Given the description of an element on the screen output the (x, y) to click on. 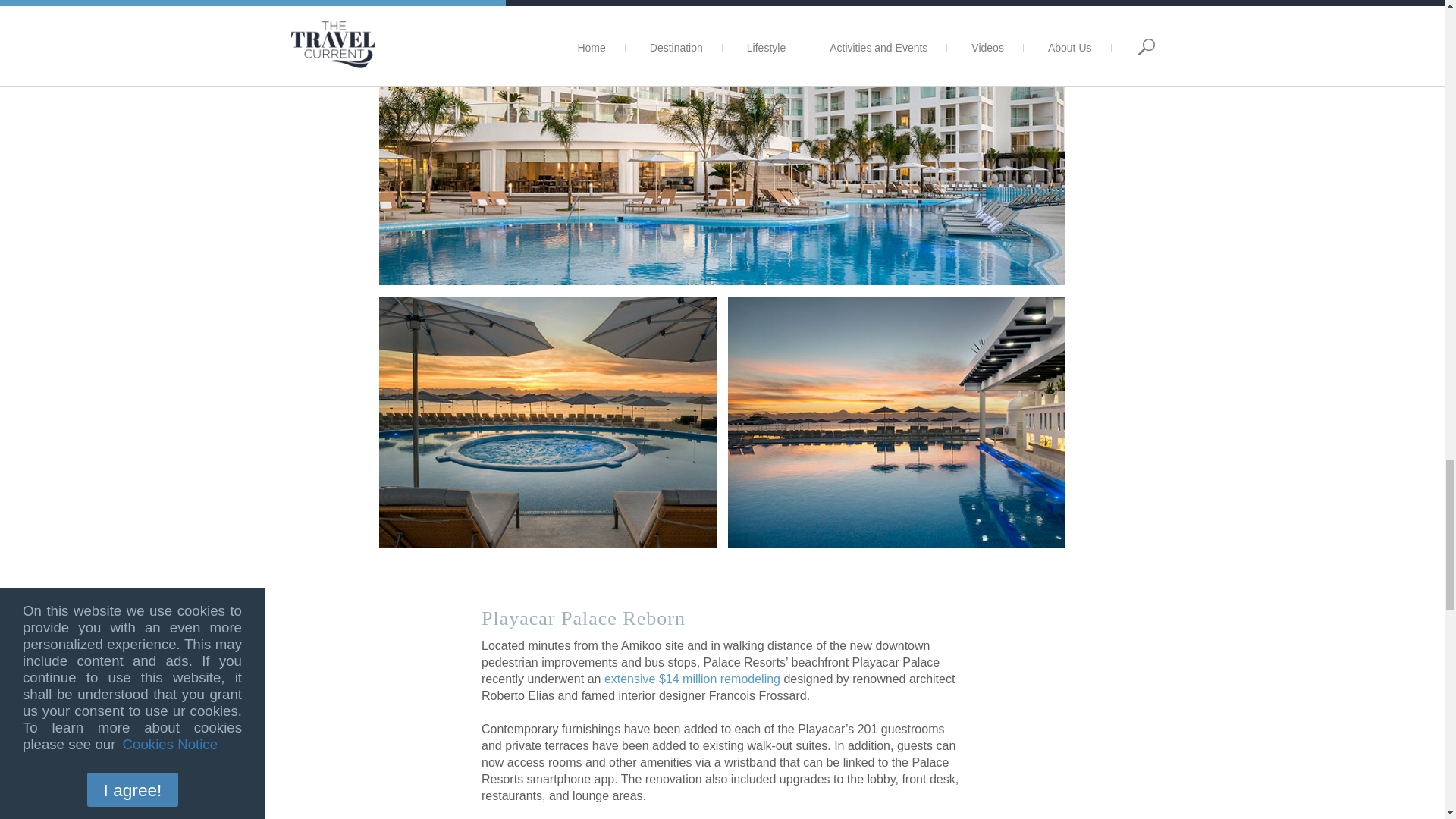
Puesta de sol desde Jacuzzi de exclusivo Resort en Playacar (547, 421)
Sunset in pool at luxurious Resort in Playacar (896, 421)
